Given the description of an element on the screen output the (x, y) to click on. 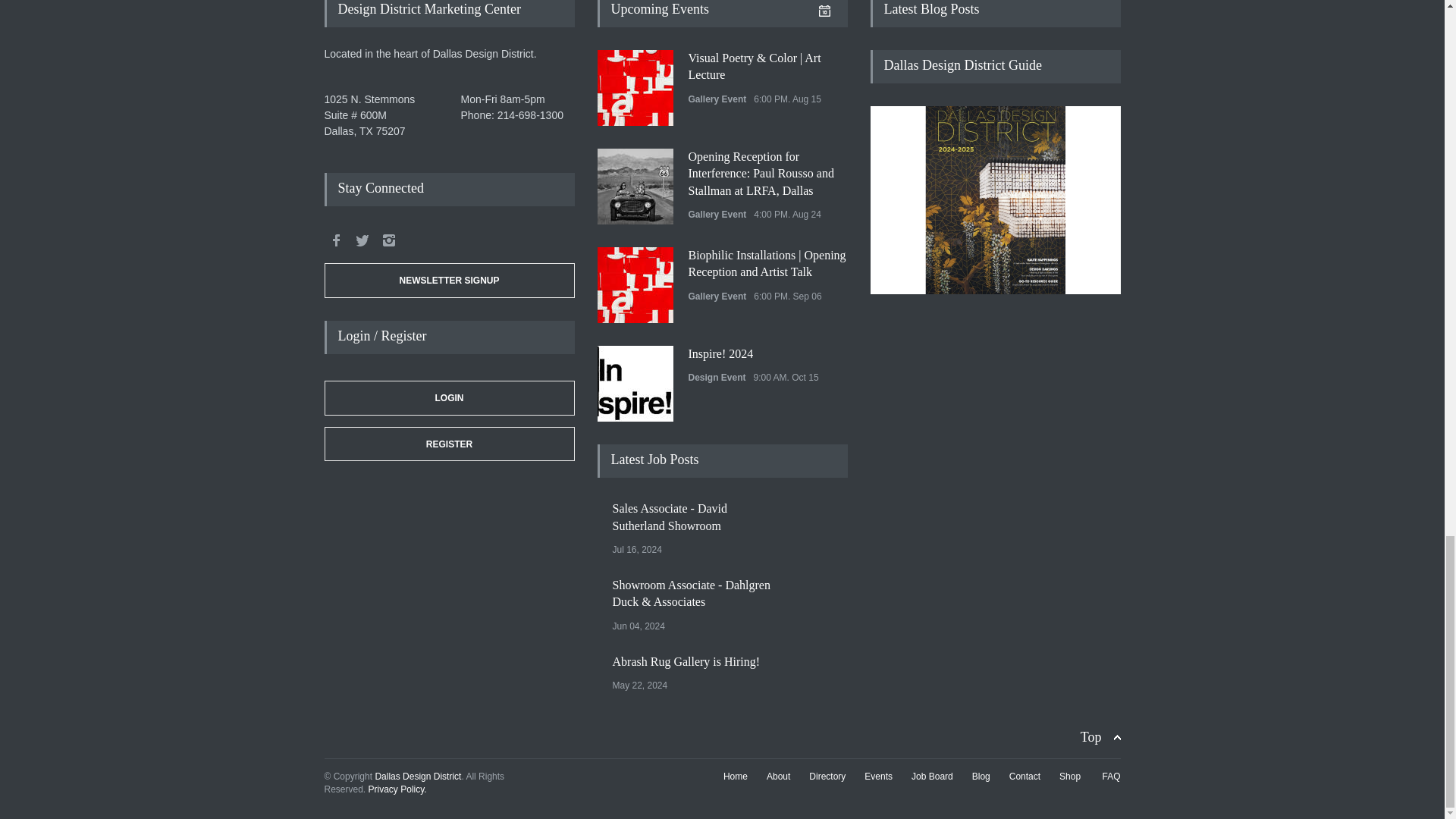
Top (1100, 737)
